Given the description of an element on the screen output the (x, y) to click on. 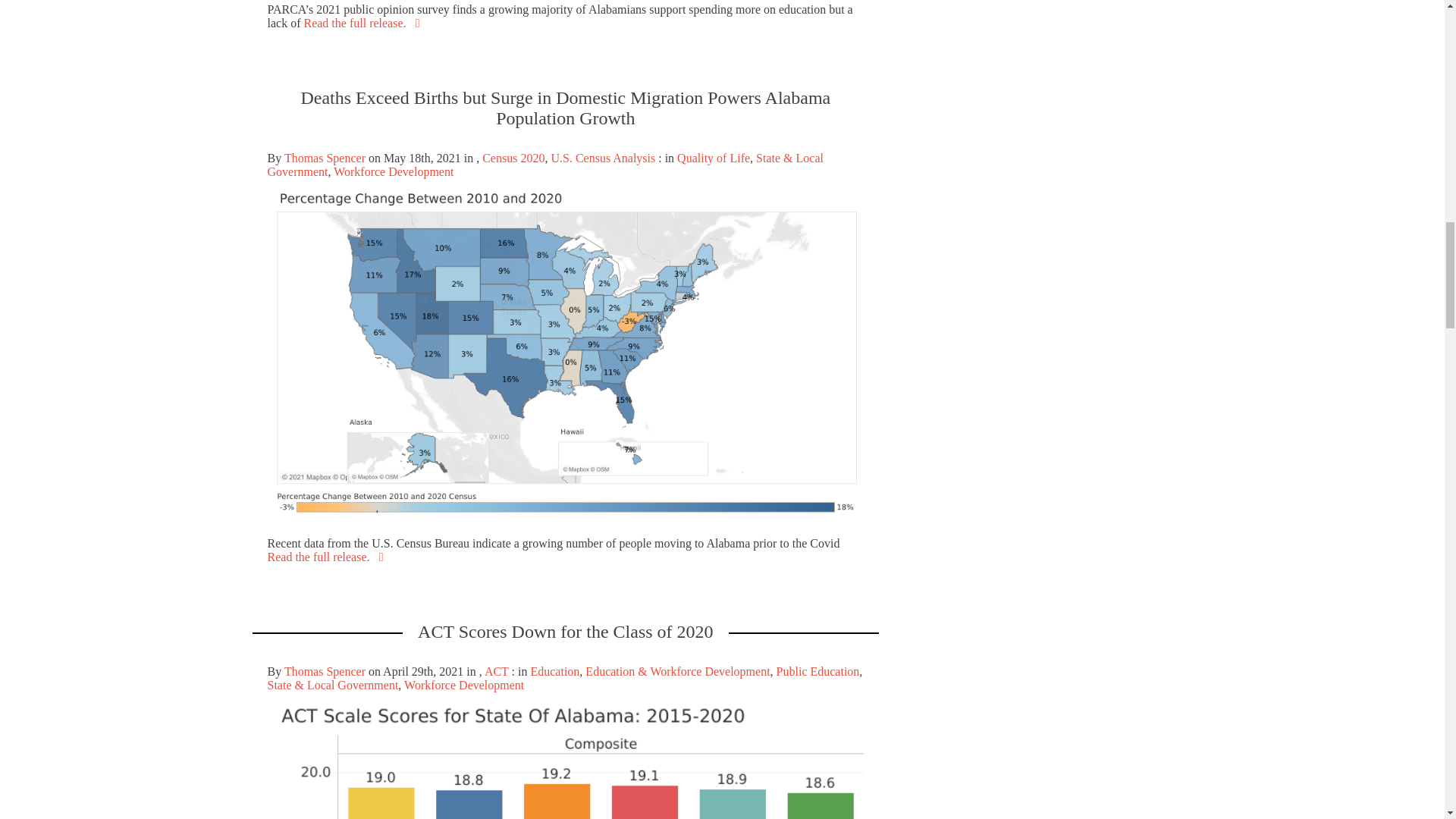
Posts by Thomas Spencer (324, 671)
Posts by Thomas Spencer (324, 157)
U.S. Census Analysis (602, 157)
Read the full release.   (363, 22)
Census 2020 (512, 157)
Thomas Spencer (324, 157)
